Given the description of an element on the screen output the (x, y) to click on. 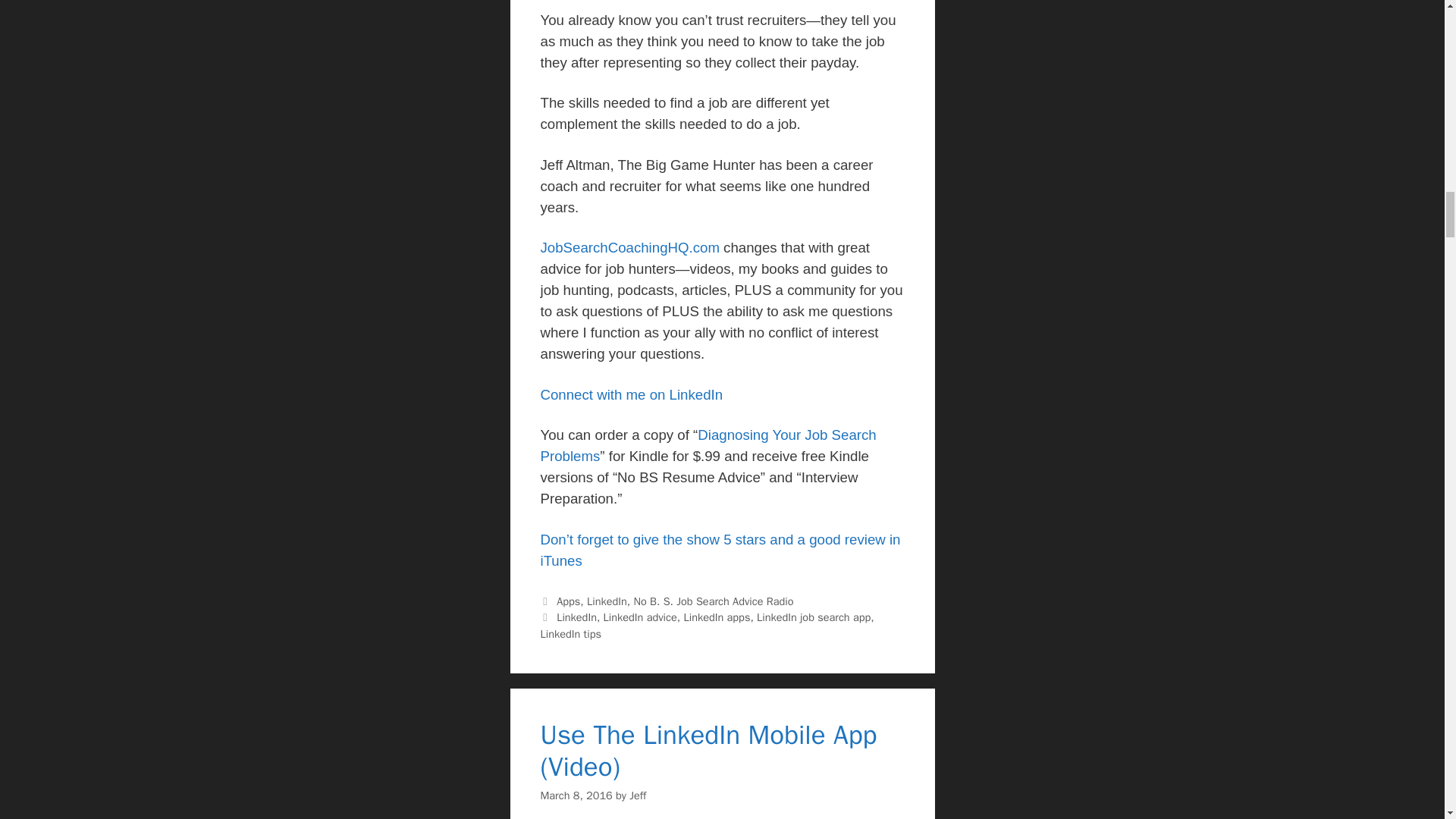
Connect with me on LinkedIn (631, 394)
Diagnosing Your Job Search Problems (708, 445)
LinkedIn (606, 601)
View all posts by Jeff (637, 795)
Apps (567, 601)
JobSearchCoachingHQ.com (629, 247)
